Given the description of an element on the screen output the (x, y) to click on. 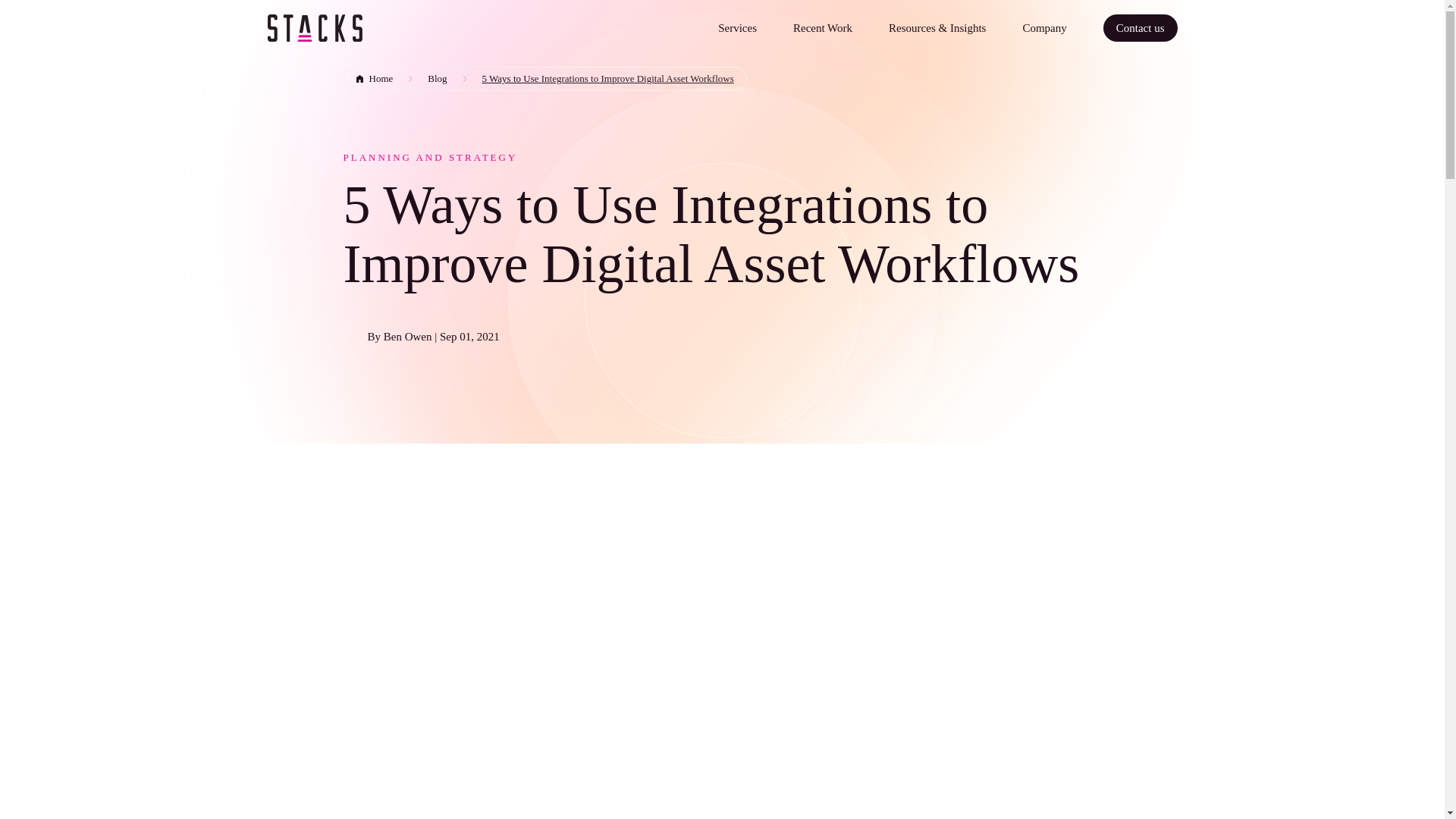
Recent Work (822, 28)
Home (373, 78)
Return to homepage (313, 28)
Blog (436, 78)
Contact us (1140, 27)
